Given the description of an element on the screen output the (x, y) to click on. 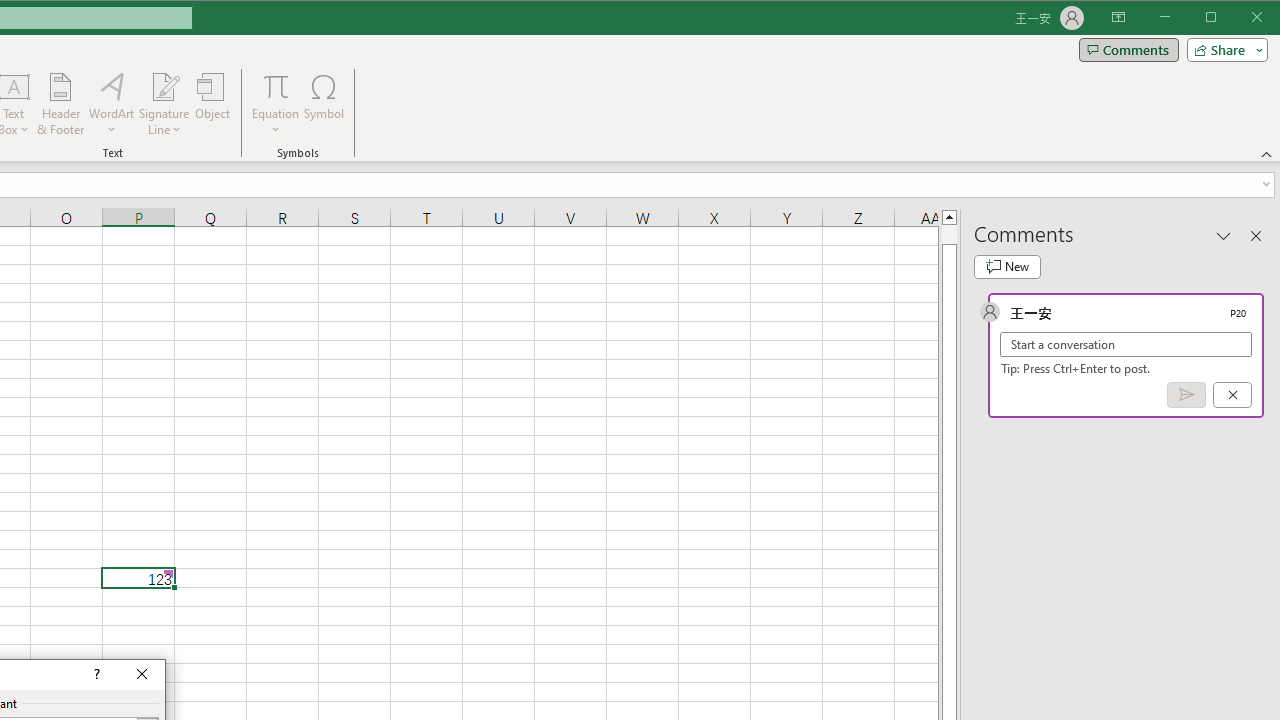
Line up (948, 216)
Ribbon Display Options (1118, 17)
Object... (213, 104)
New comment (1007, 266)
Page up (948, 234)
Equation (275, 104)
Share (1223, 49)
Close pane (1256, 235)
WordArt (111, 104)
Context help (95, 674)
Post comment (Ctrl + Enter) (1186, 395)
More Options (275, 123)
